Given the description of an element on the screen output the (x, y) to click on. 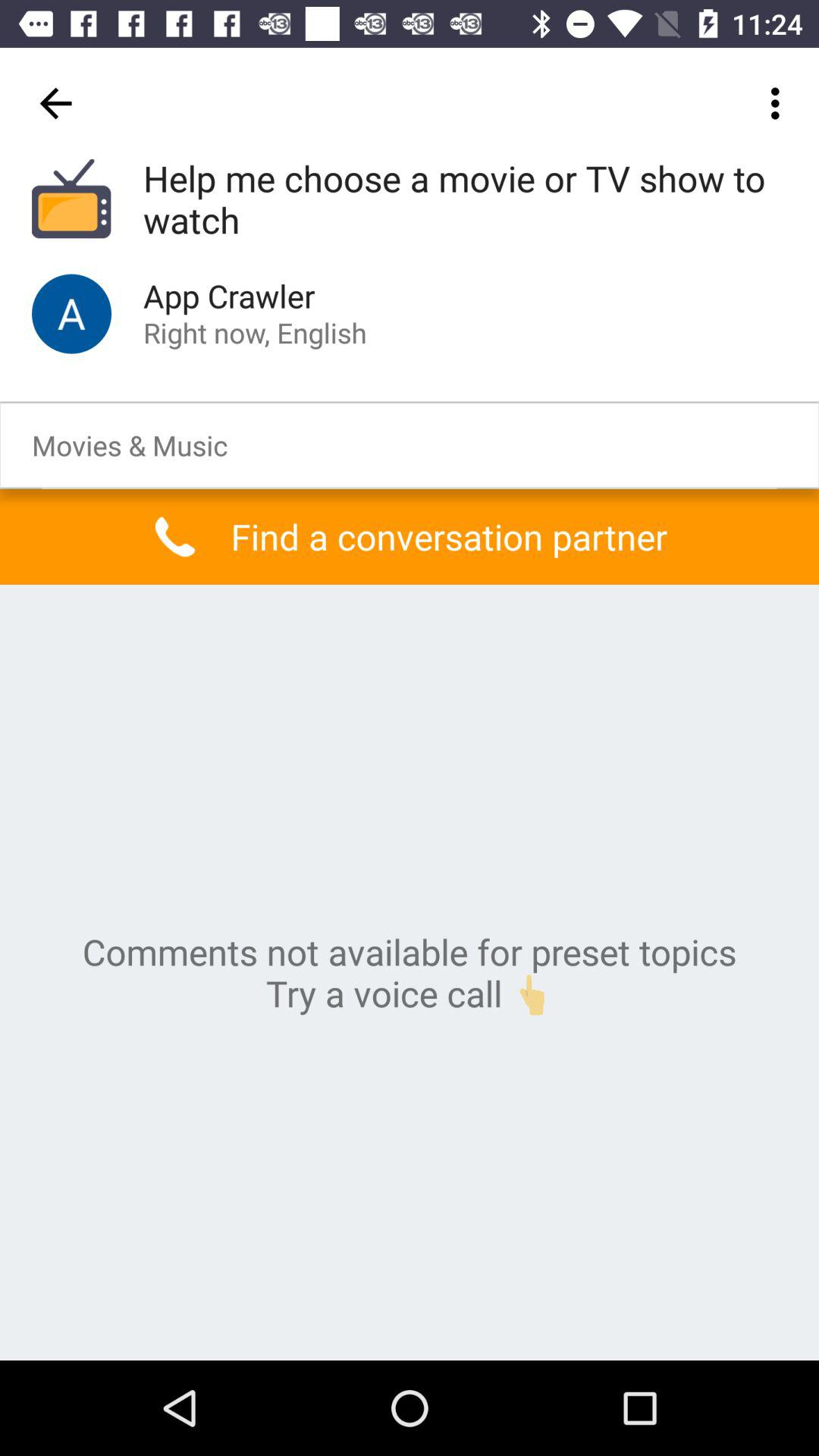
contact number 's display picture symbol (71, 313)
